Given the description of an element on the screen output the (x, y) to click on. 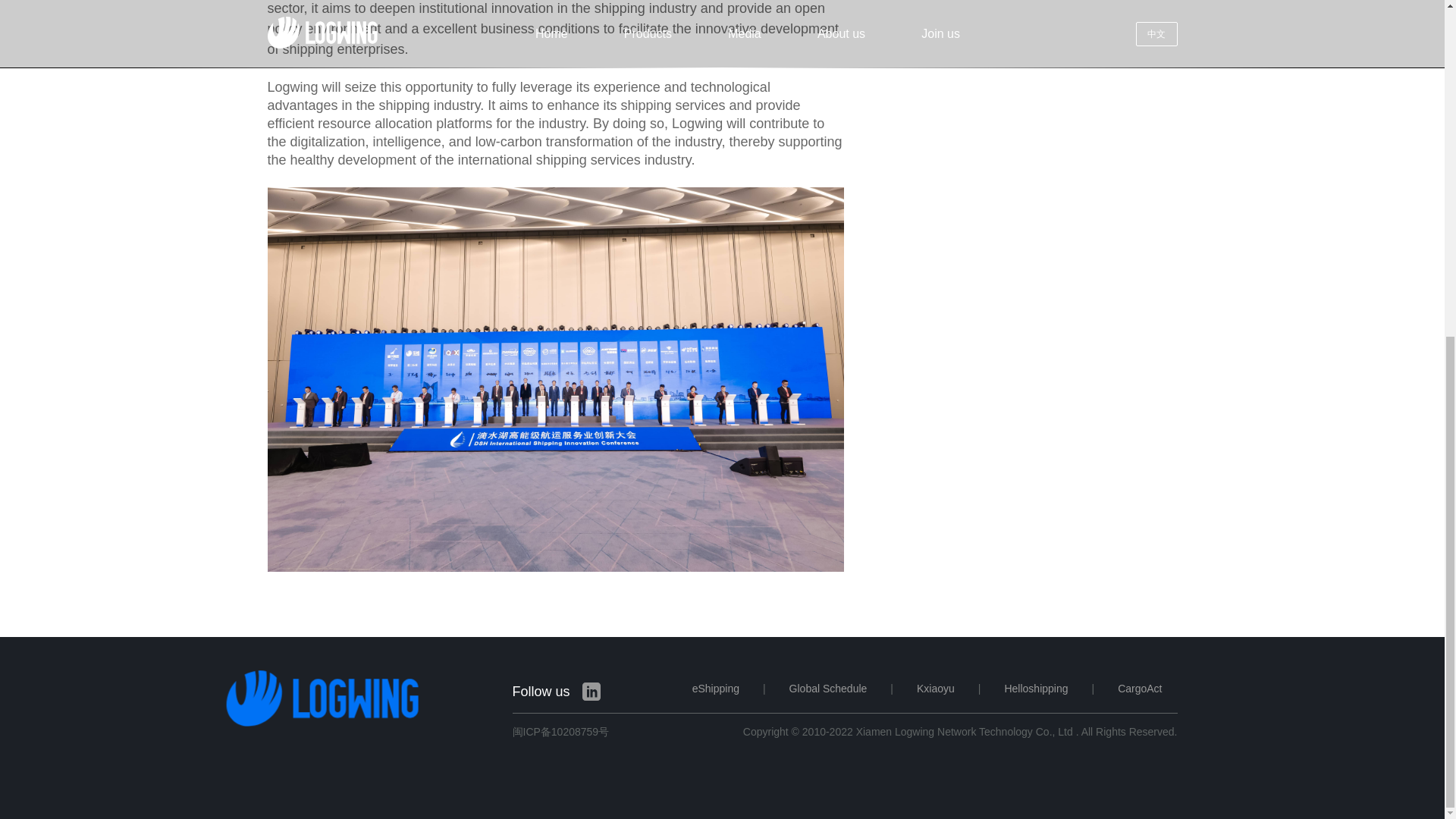
eShipping (716, 688)
Kxiaoyu (936, 688)
Global Schedule (828, 688)
Helloshipping (1035, 688)
CargoAct (1147, 688)
